Given the description of an element on the screen output the (x, y) to click on. 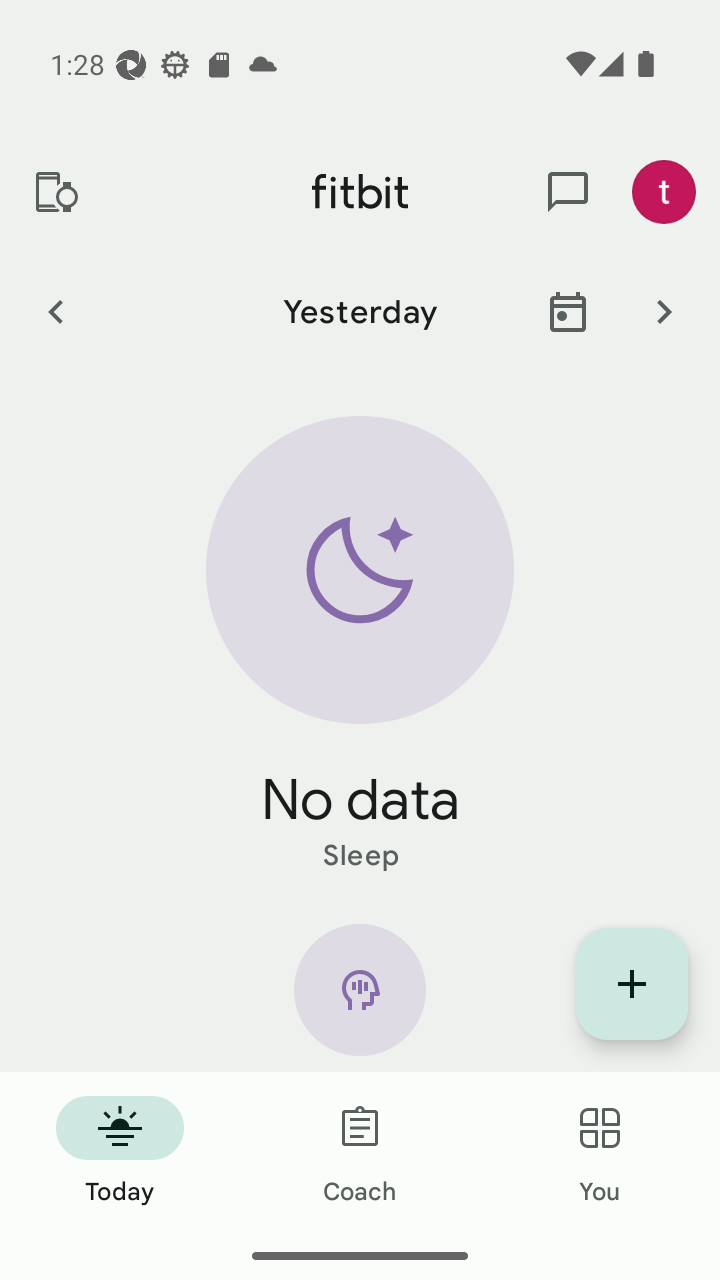
Devices and apps (55, 191)
messages and notifications (567, 191)
Previous Day (55, 311)
Jump to today (567, 311)
Next Day (664, 311)
Sleep static hero arc No data Sleep (359, 645)
Mindfulness icon (360, 998)
Display list of quick log entries (632, 983)
Coach (359, 1151)
You (600, 1151)
